Given the description of an element on the screen output the (x, y) to click on. 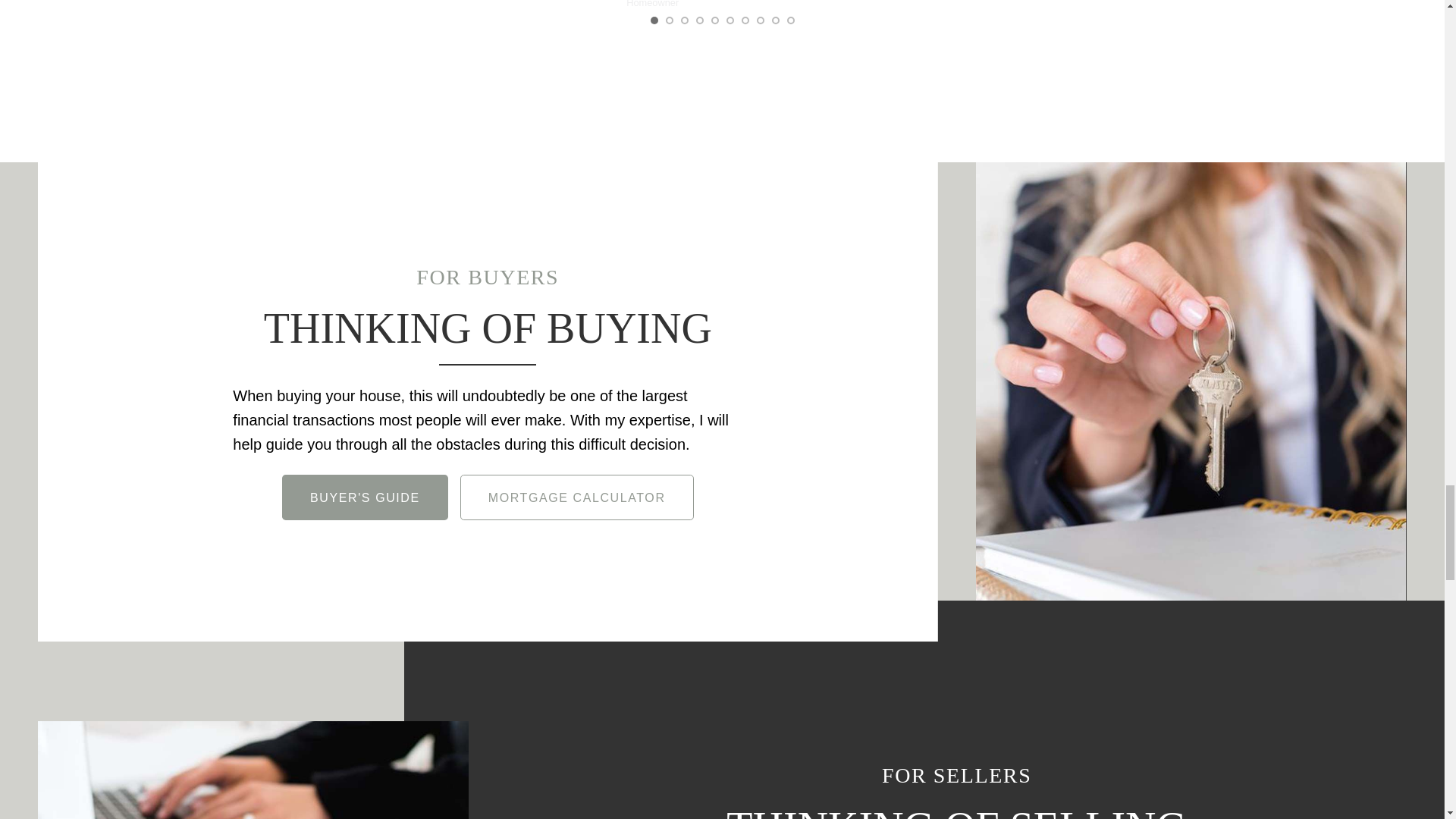
BUYER'S GUIDE (365, 497)
MORTGAGE CALCULATOR (577, 497)
